Given the description of an element on the screen output the (x, y) to click on. 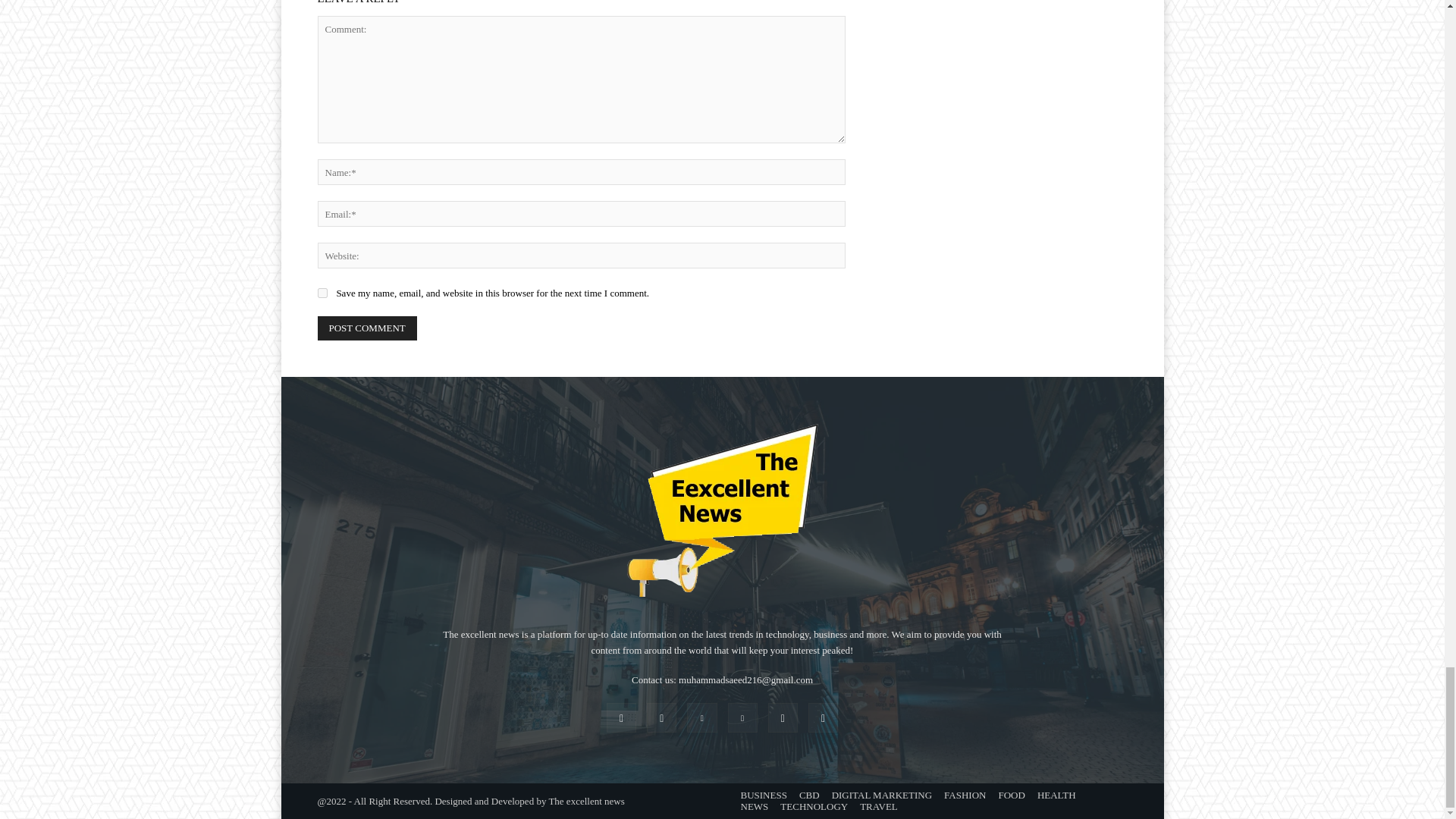
yes (321, 293)
Post Comment (366, 328)
